Given the description of an element on the screen output the (x, y) to click on. 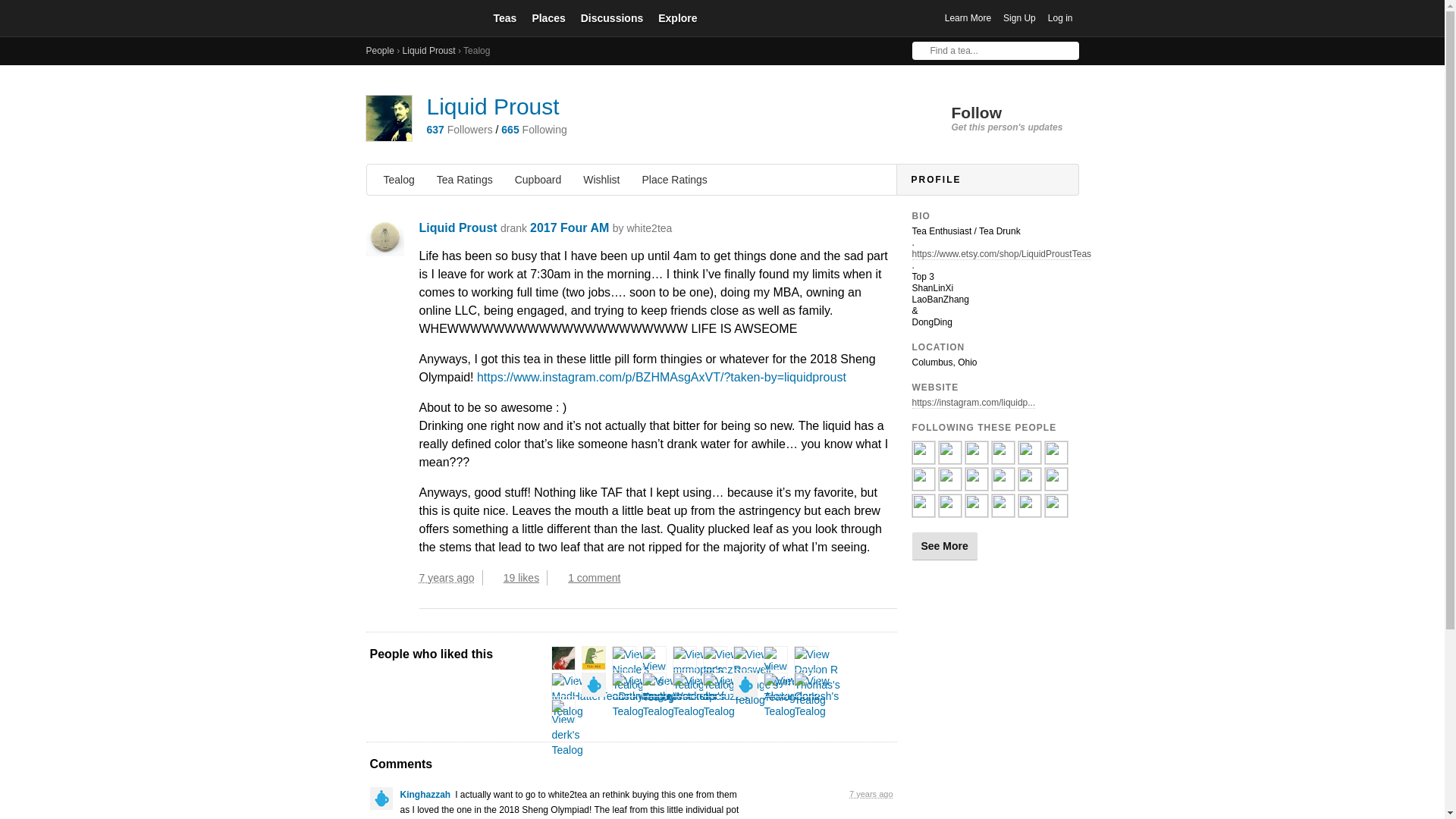
Discussions (612, 17)
637 Followers (459, 129)
View southwestender's Tealog (684, 696)
Tea Ratings (465, 179)
Liquid Proust (429, 50)
I Like This (494, 577)
Liquid Proust (492, 106)
Log in (1060, 18)
Wishlist (600, 179)
View Wocket's Tealog (694, 696)
